Given the description of an element on the screen output the (x, y) to click on. 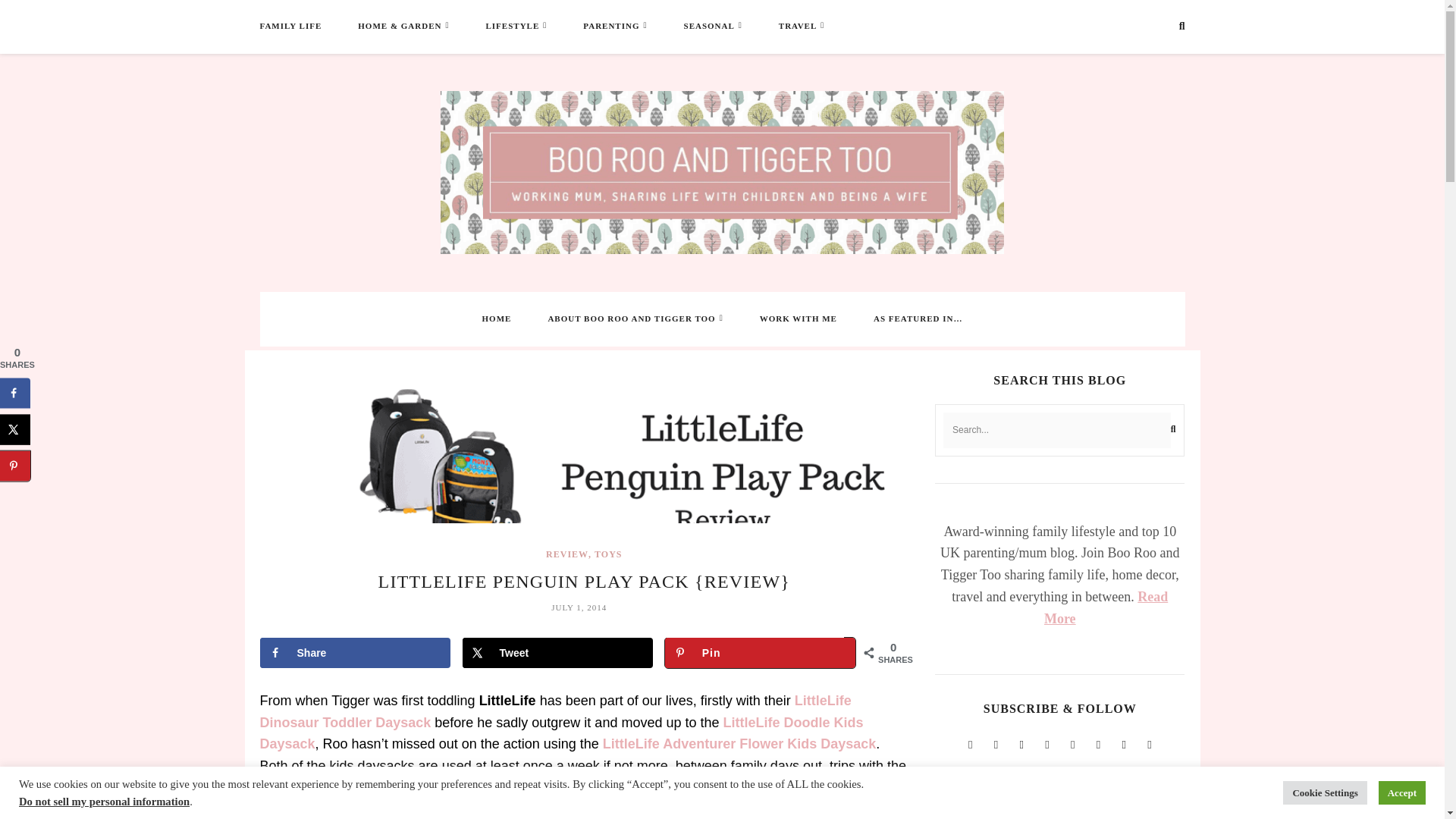
REVIEW: LittleLife Adventurer Kids Daysack Flower (739, 743)
Save to Pinterest (760, 653)
Share on X (557, 653)
REVIEW: LittleLife Doodle Daysack (561, 733)
Toddling along with the LittleLife Animal Daysack (554, 711)
Share on Facebook (354, 653)
